Given the description of an element on the screen output the (x, y) to click on. 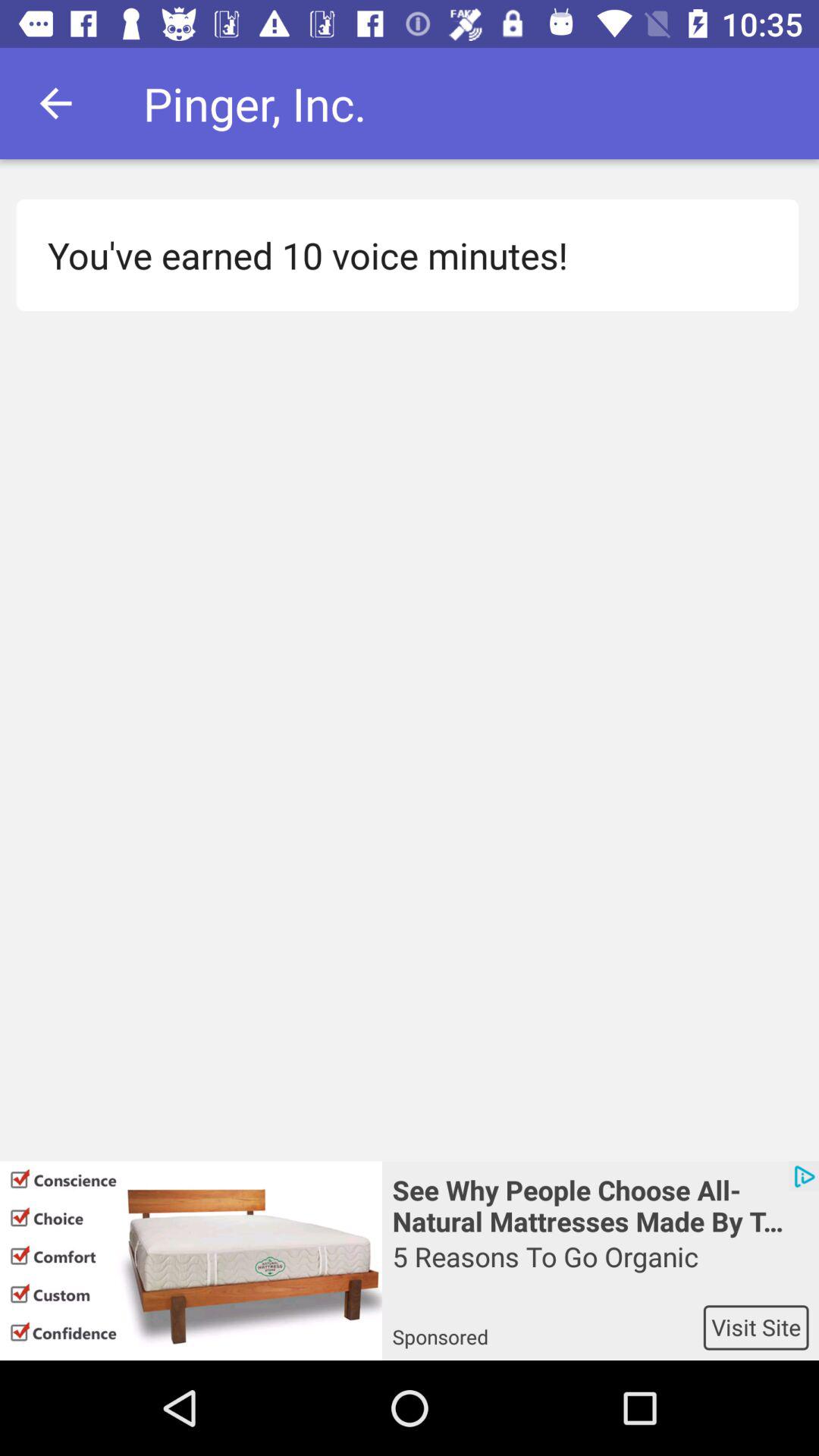
flip until the visit site icon (755, 1327)
